Given the description of an element on the screen output the (x, y) to click on. 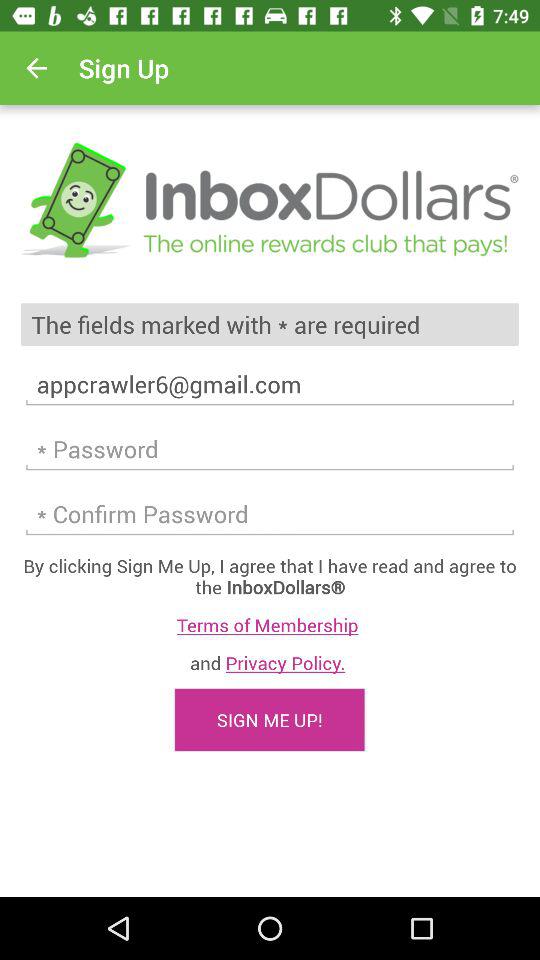
click icon below the by clicking sign item (270, 624)
